Given the description of an element on the screen output the (x, y) to click on. 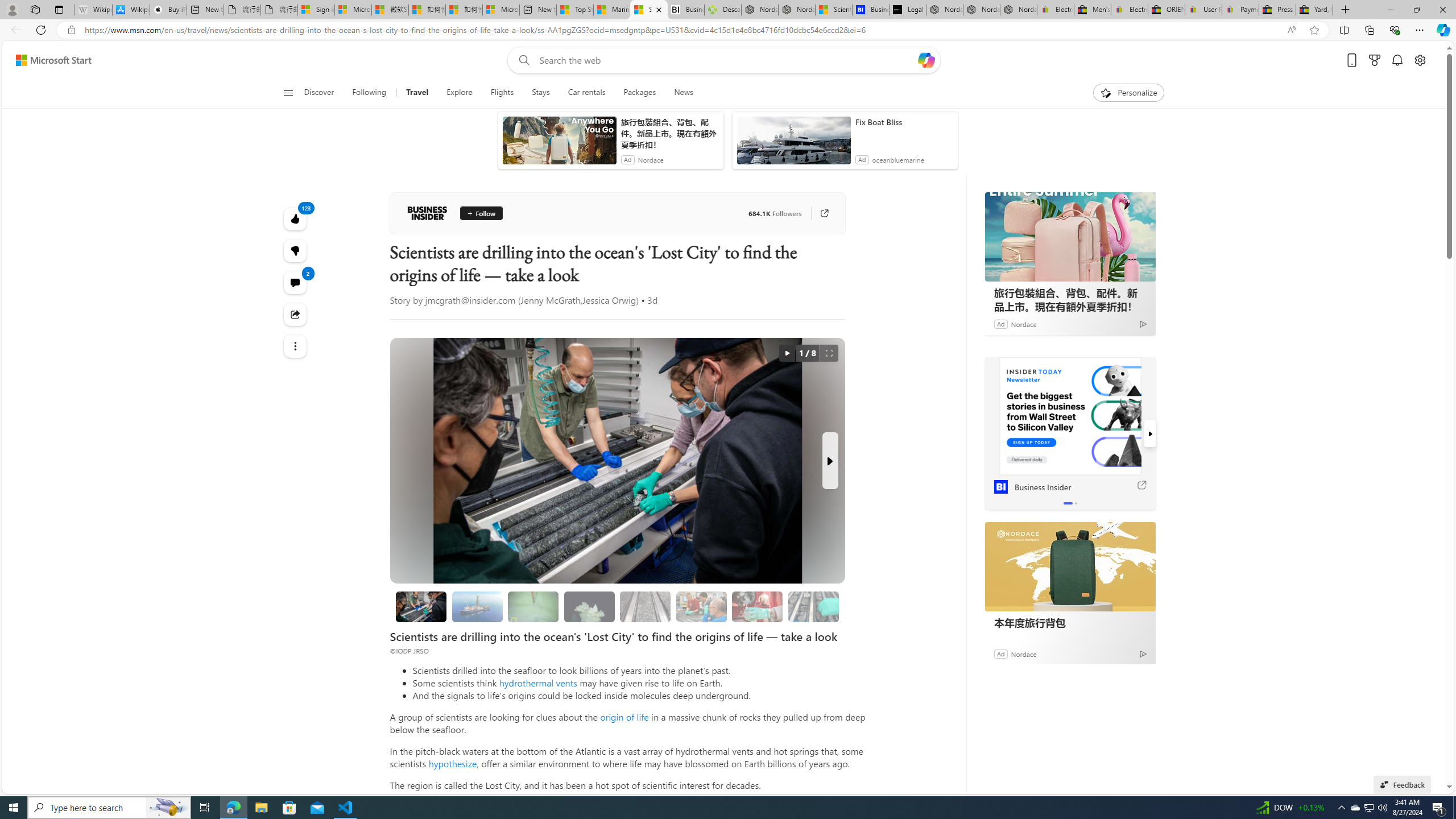
123 Like (295, 218)
Class: at-item (295, 345)
Packages (639, 92)
Stays (540, 92)
User Privacy Notice | eBay (1203, 9)
Marine life - MSN (611, 9)
Microsoft Services Agreement (353, 9)
Yard, Garden & Outdoor Living (1314, 9)
hydrothermal vents (537, 682)
The Lost City could hold clues to the origin of life. (588, 606)
